Given the description of an element on the screen output the (x, y) to click on. 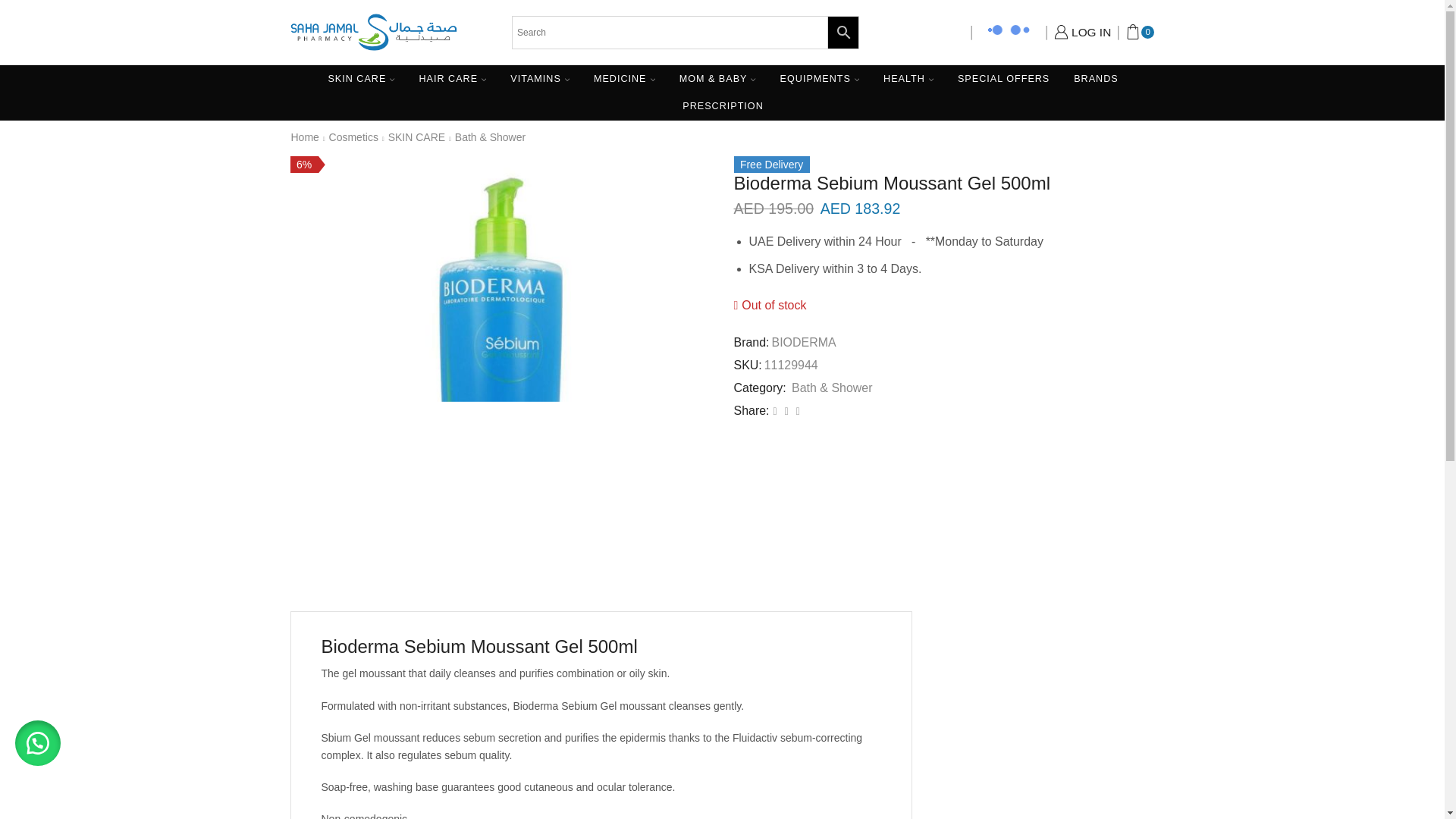
Mail to friend (786, 410)
0 (1139, 31)
VITAMINS (540, 78)
HAIR CARE (452, 78)
Facebook (775, 410)
LOG IN (1083, 32)
SKIN CARE (360, 78)
MEDICINE (624, 78)
